Given the description of an element on the screen output the (x, y) to click on. 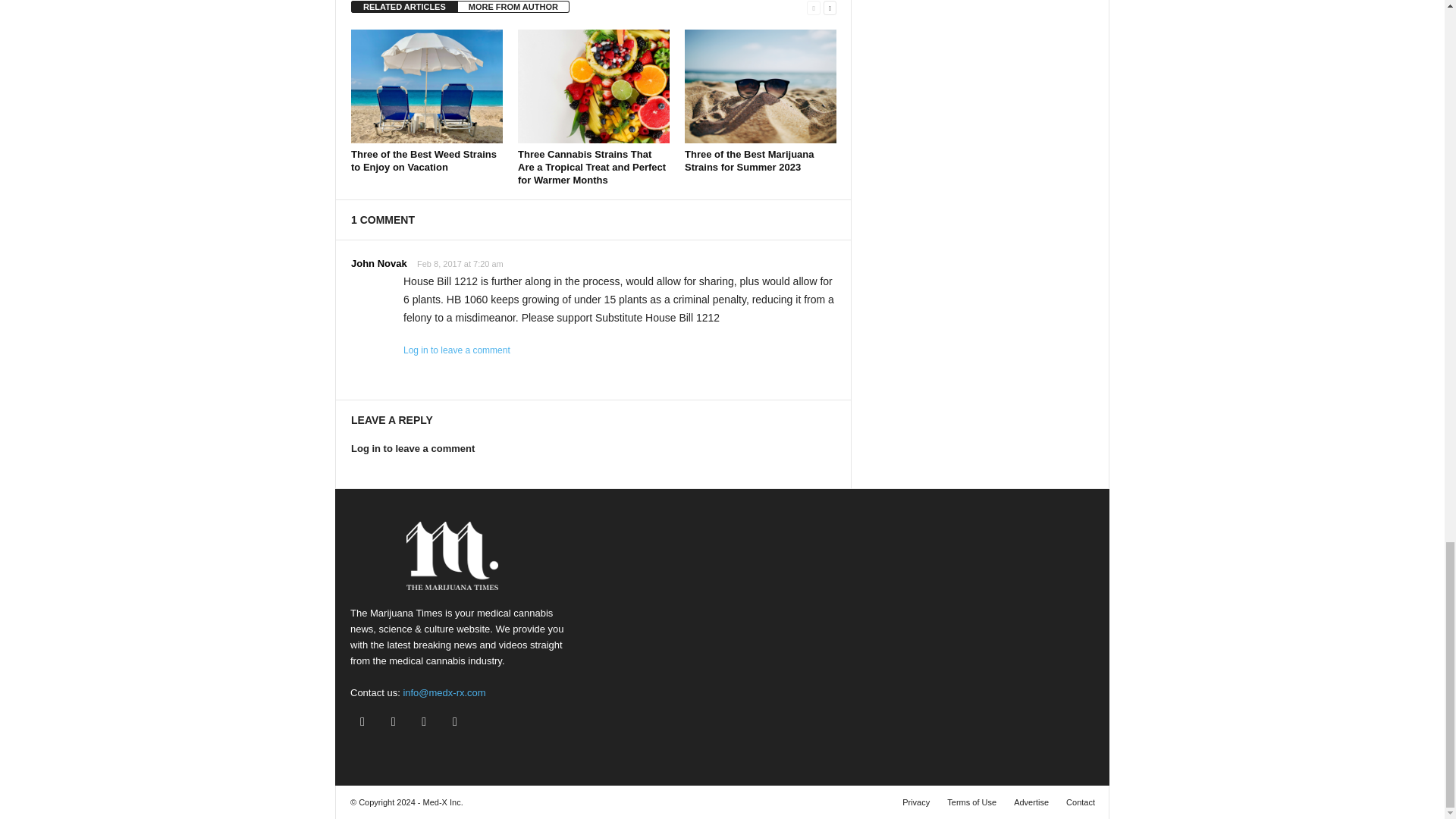
Three of the Best Weed Strains to Enjoy on Vacation (426, 86)
Three of the Best Weed Strains to Enjoy on Vacation (423, 160)
